Given the description of an element on the screen output the (x, y) to click on. 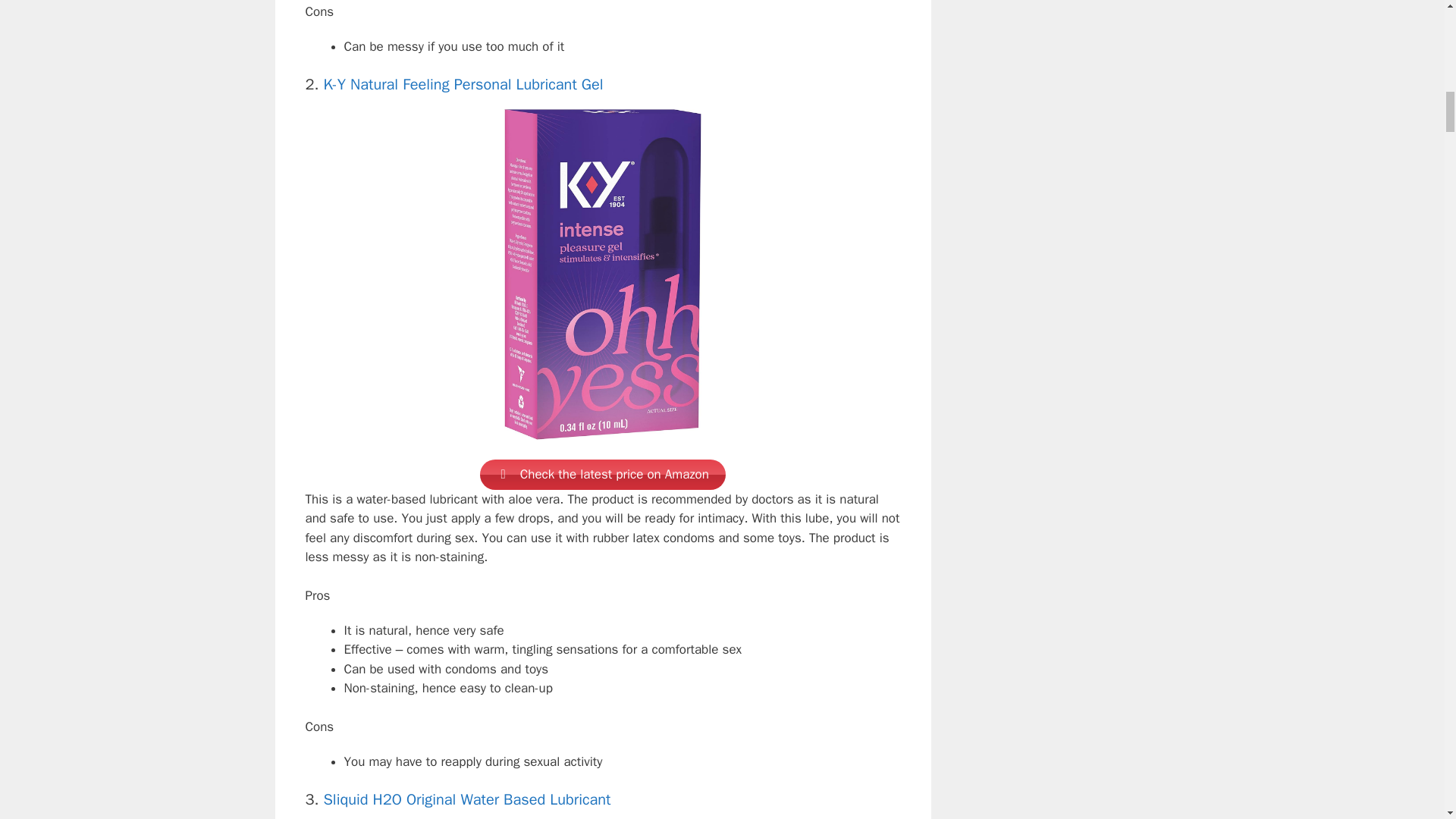
Sliquid H2O Original Water Based Lubricant (466, 799)
Check the latest price on Amazon (602, 474)
K-Y Natural Feeling Personal Lubricant Gel (462, 84)
